Given the description of an element on the screen output the (x, y) to click on. 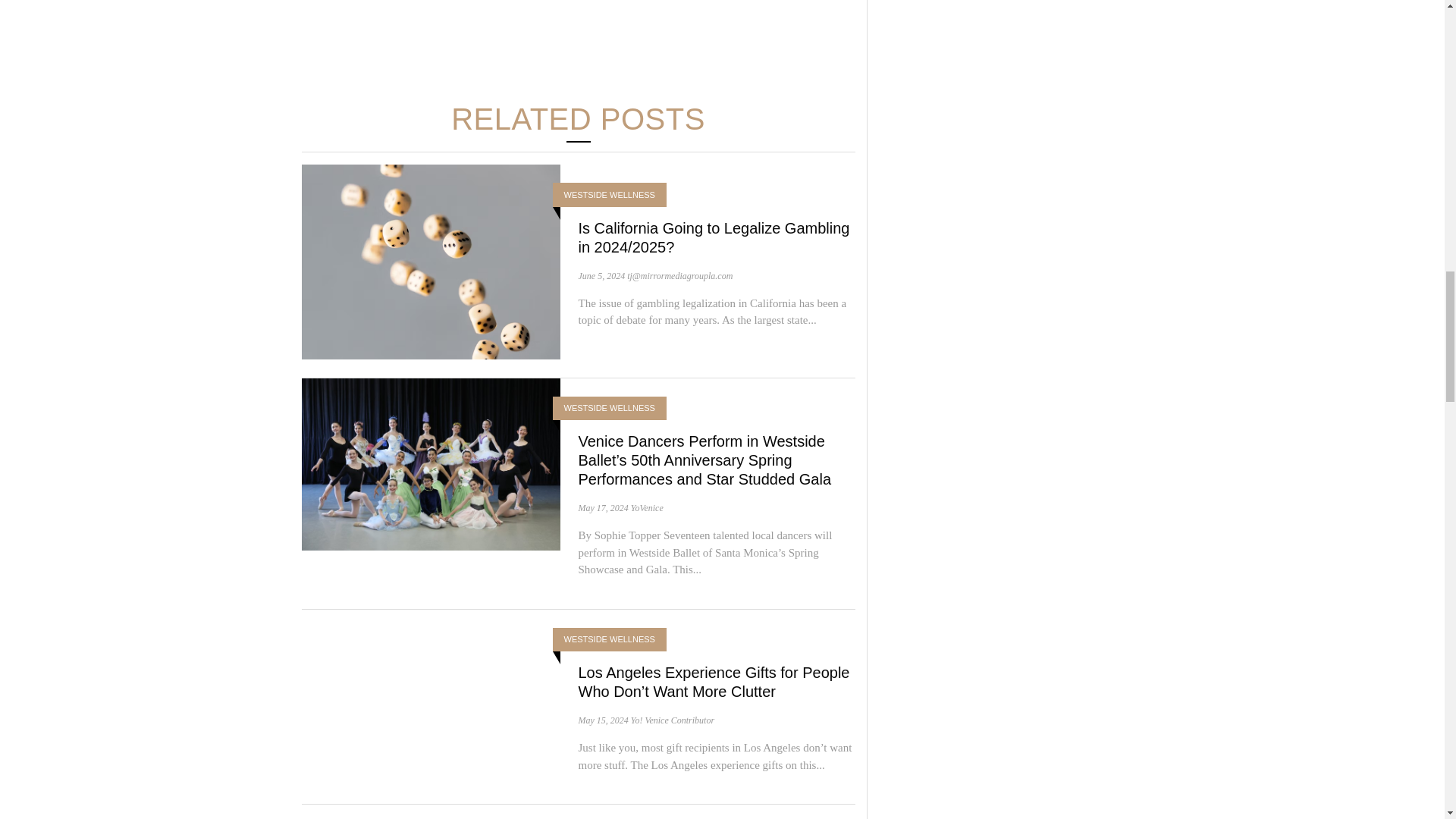
Posts by YoVenice (646, 507)
WESTSIDE WELLNESS (609, 195)
Posts by Yo! Venice Contributor (672, 719)
